Given the description of an element on the screen output the (x, y) to click on. 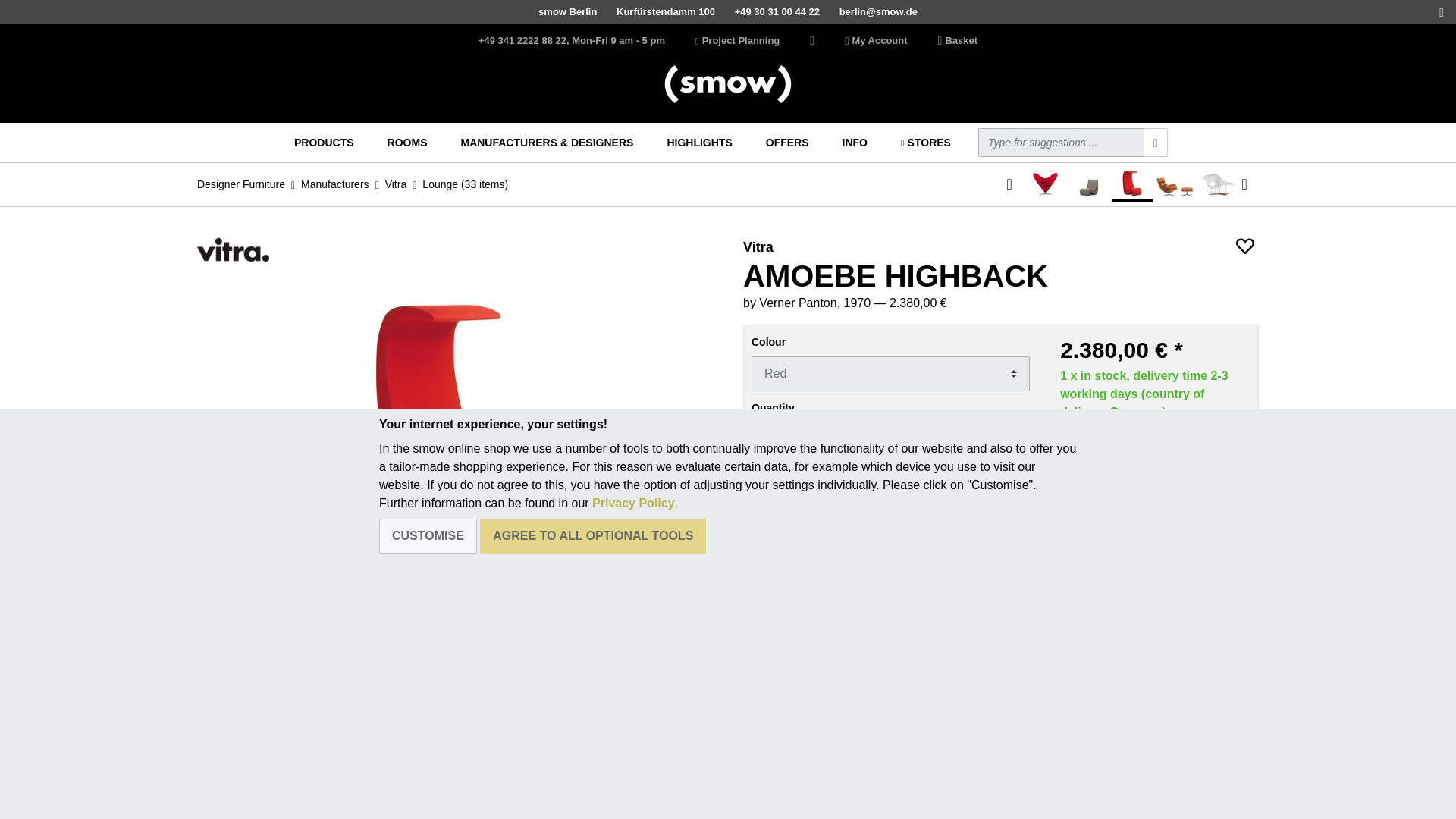
STORES (925, 142)
Back to homepage - smow online shop (727, 84)
1 (890, 439)
CUSTOMISE (427, 535)
AGREE TO ALL OPTIONAL TOOLS (593, 535)
OFFERS (787, 142)
HIGHLIGHTS (699, 142)
Basket (956, 40)
INFO (854, 142)
ROOMS (407, 142)
